Given the description of an element on the screen output the (x, y) to click on. 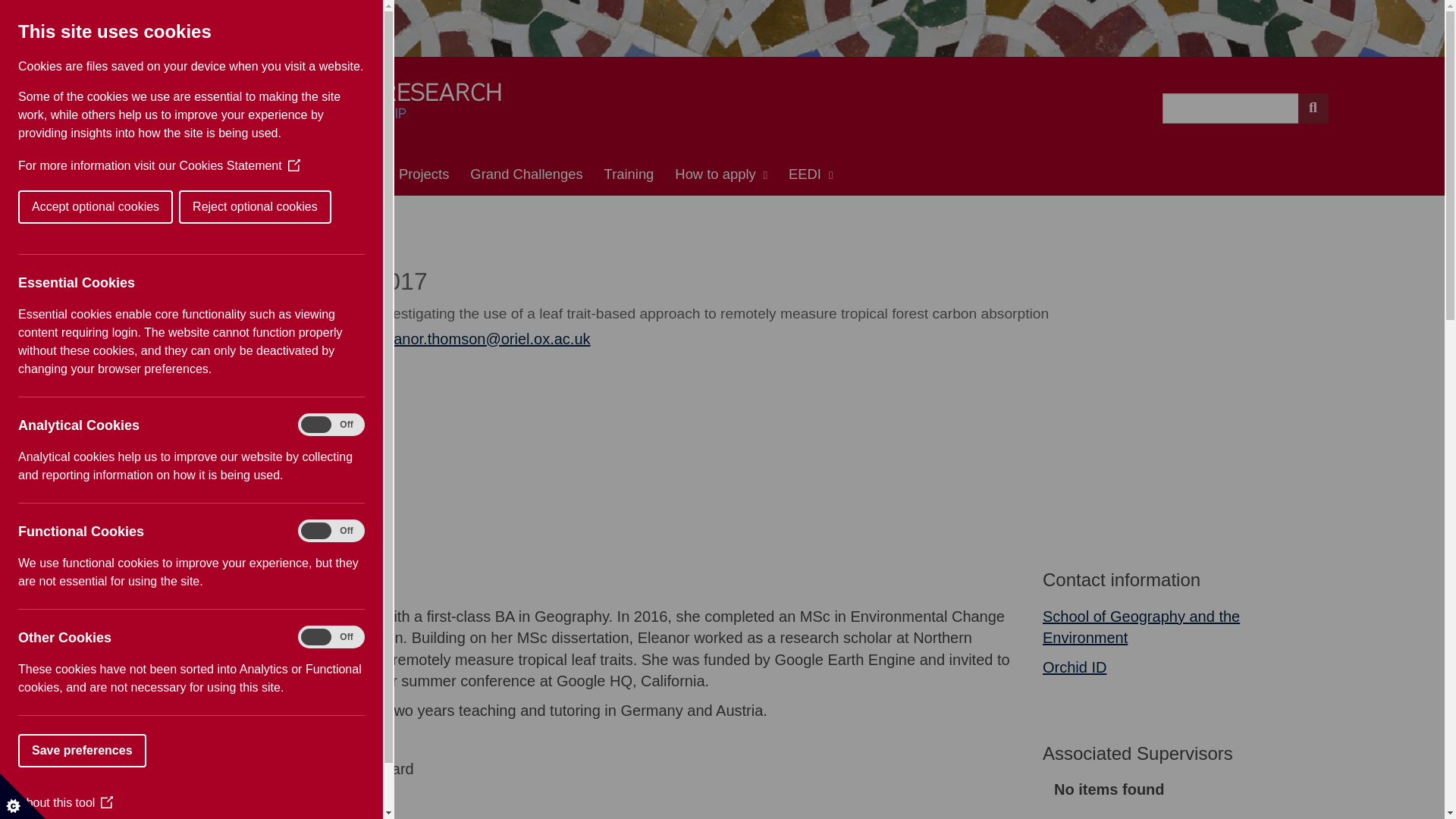
Partners (275, 174)
Grand Challenges (526, 174)
Projects (424, 174)
Save preferences (41, 750)
Home (144, 174)
Search (1312, 108)
EEDI (810, 174)
Orchid ID (1074, 667)
School of Geography and the Environment (1141, 627)
Colleges (350, 174)
